Given the description of an element on the screen output the (x, y) to click on. 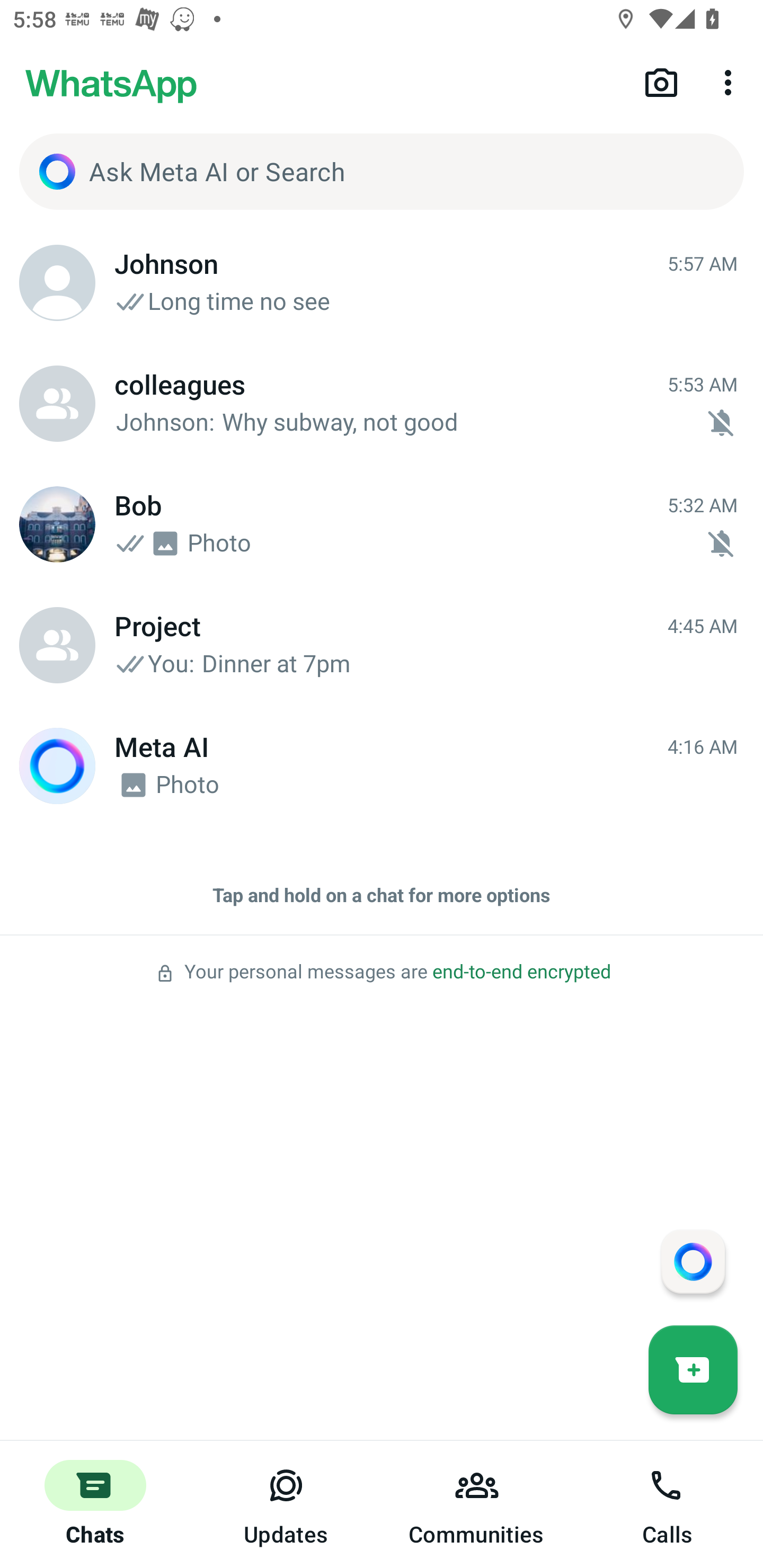
Camera (661, 81)
More options (731, 81)
Johnson Johnson 5:57 AM 5:57 AM Long time no see (381, 282)
Johnson (57, 282)
colleagues (57, 403)
Bob Bob 5:32 AM 5:32 AM Photo Mute notifications (381, 524)
Bob (57, 524)
Project (57, 644)
Meta AI Meta AI 4:16 AM 4:16 AM Photo (381, 765)
Meta AI (57, 765)
end-to-end encrypted (521, 972)
Message your assistant (692, 1261)
New chat (692, 1369)
Updates (285, 1504)
Communities (476, 1504)
Calls (667, 1504)
